Given the description of an element on the screen output the (x, y) to click on. 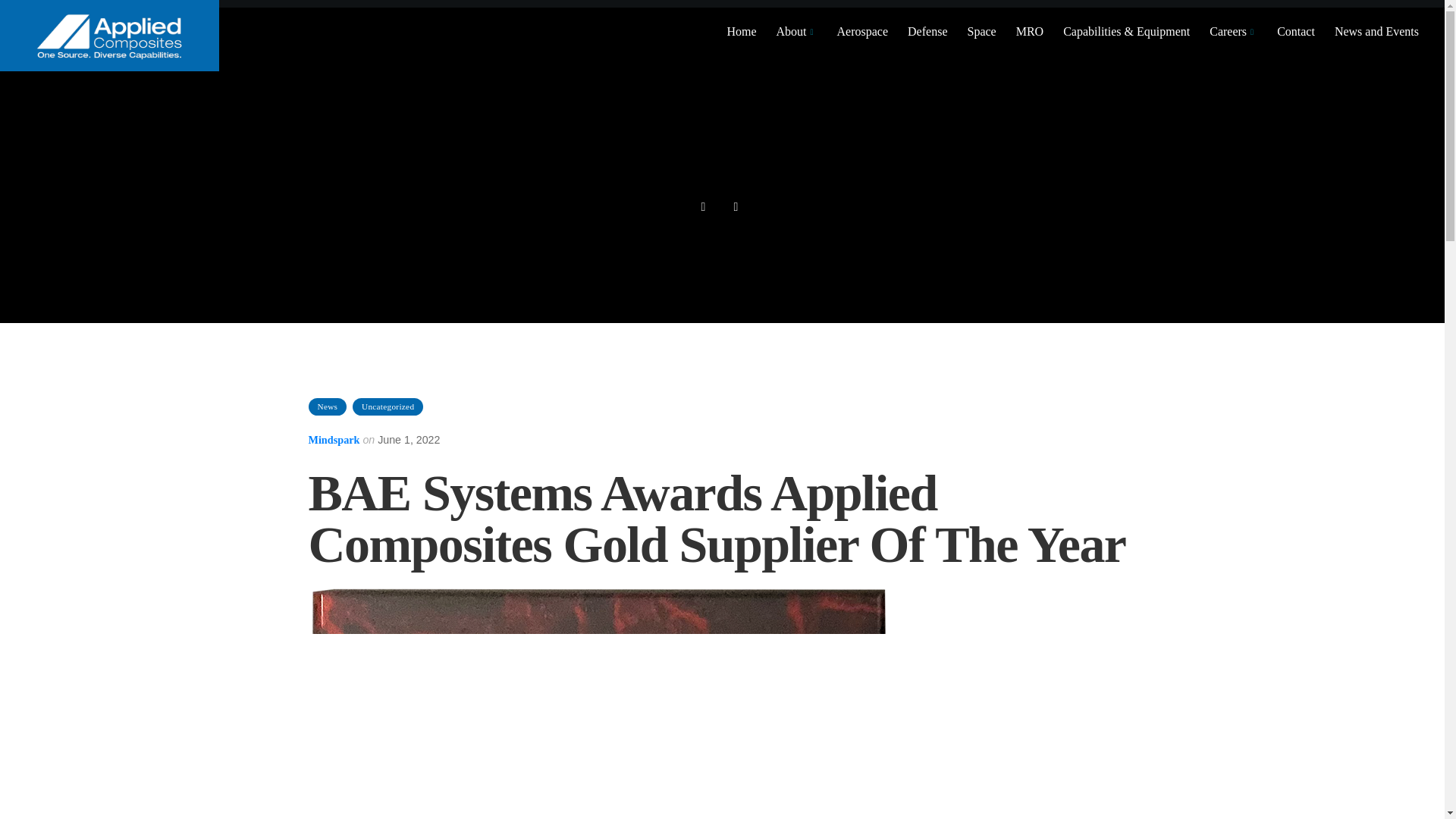
Contact (1293, 31)
Careers (1230, 31)
Aerospace (860, 31)
Uncategorized (387, 406)
Mindspark (333, 439)
Visit Author Posts (333, 439)
About (794, 31)
News and Events (1374, 31)
News (326, 406)
Defense (925, 31)
